Given the description of an element on the screen output the (x, y) to click on. 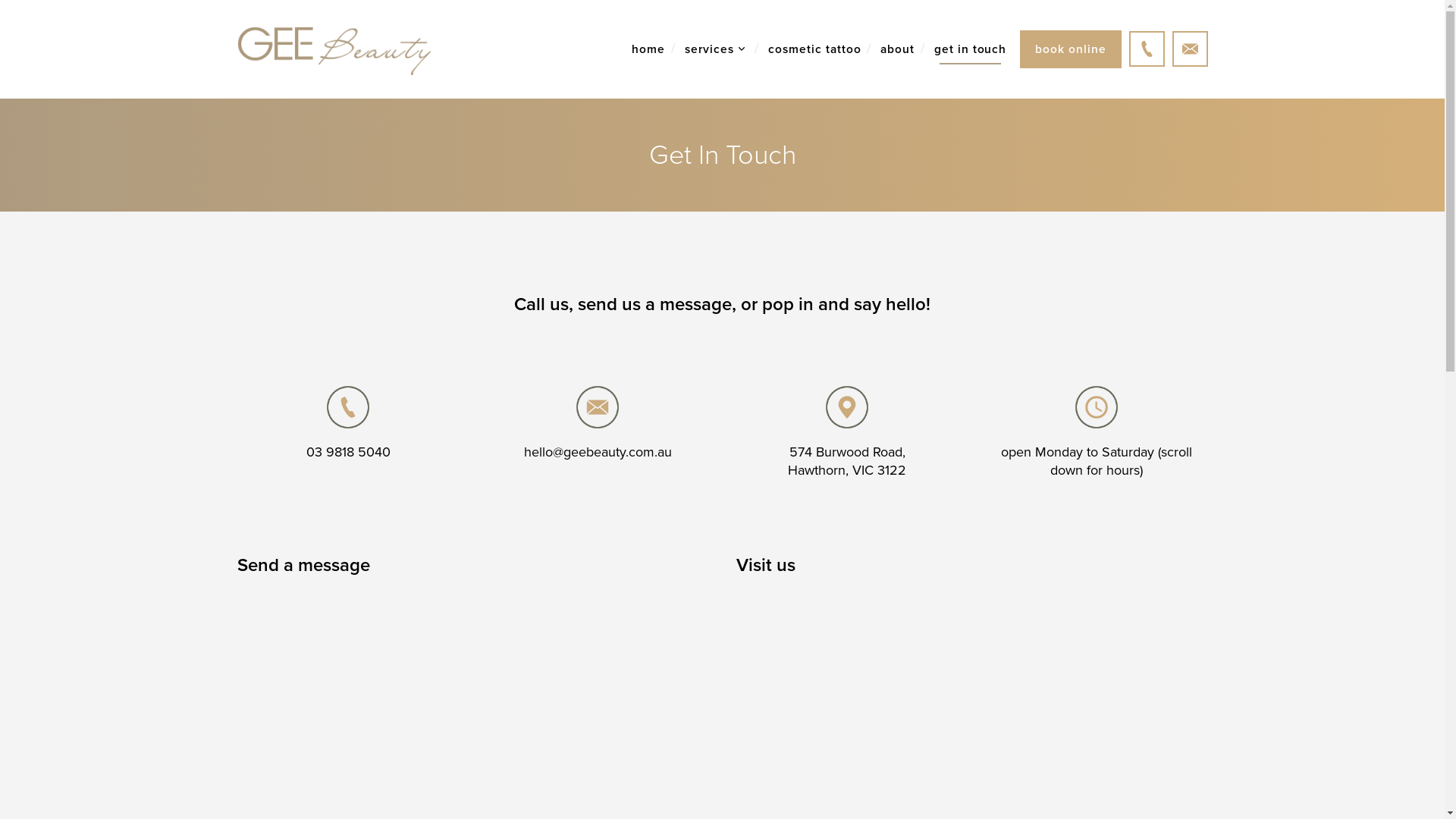
get in touch Element type: text (969, 49)
about Element type: text (897, 49)
book online Element type: text (1070, 49)
services Element type: text (714, 49)
cosmetic tattoo Element type: text (813, 49)
home Element type: text (648, 49)
